Given the description of an element on the screen output the (x, y) to click on. 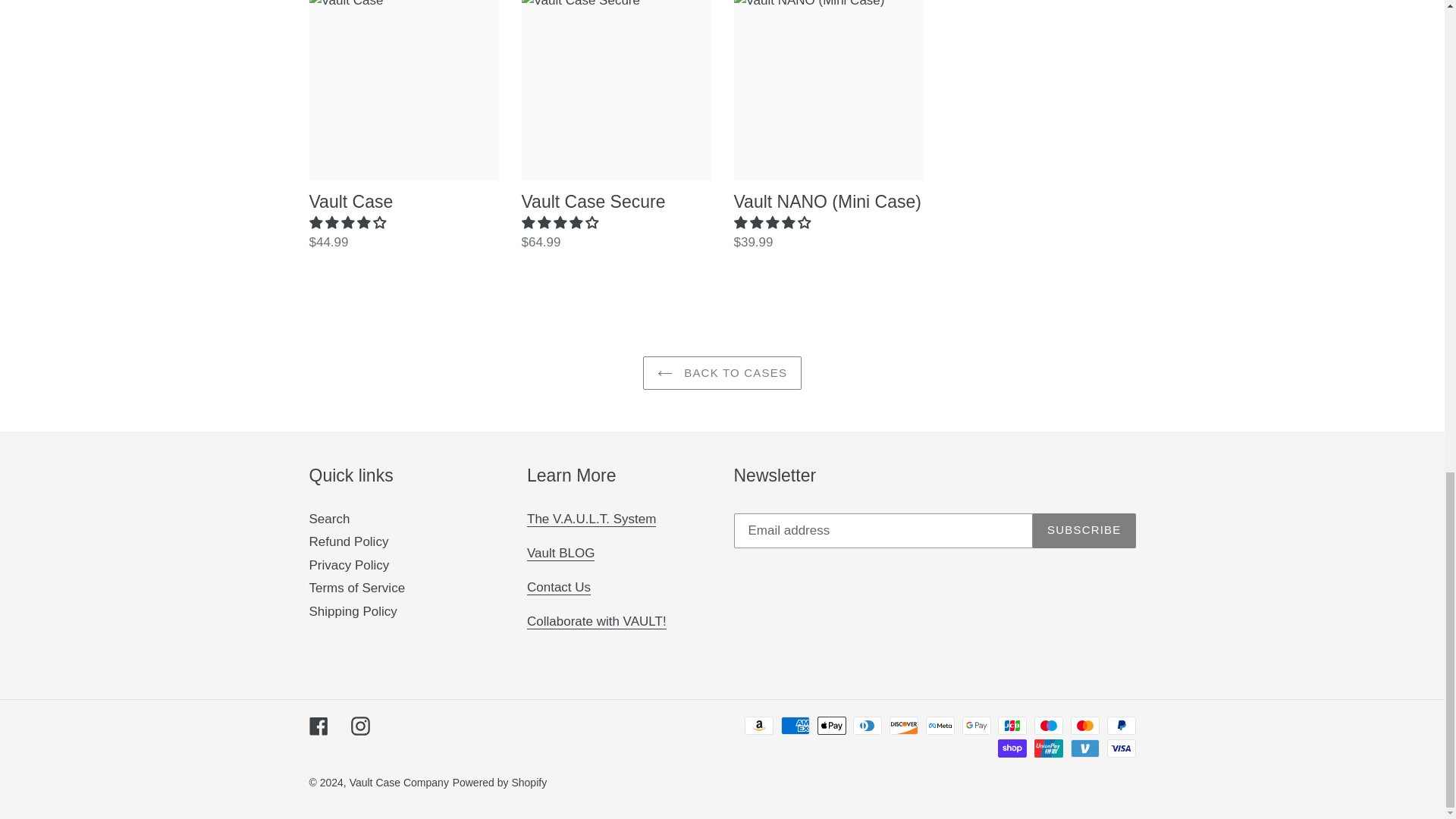
Vault EDC Blog (560, 553)
The V.A.U.L.T. System (591, 519)
Collaborate with VAULT! (596, 621)
